Given the description of an element on the screen output the (x, y) to click on. 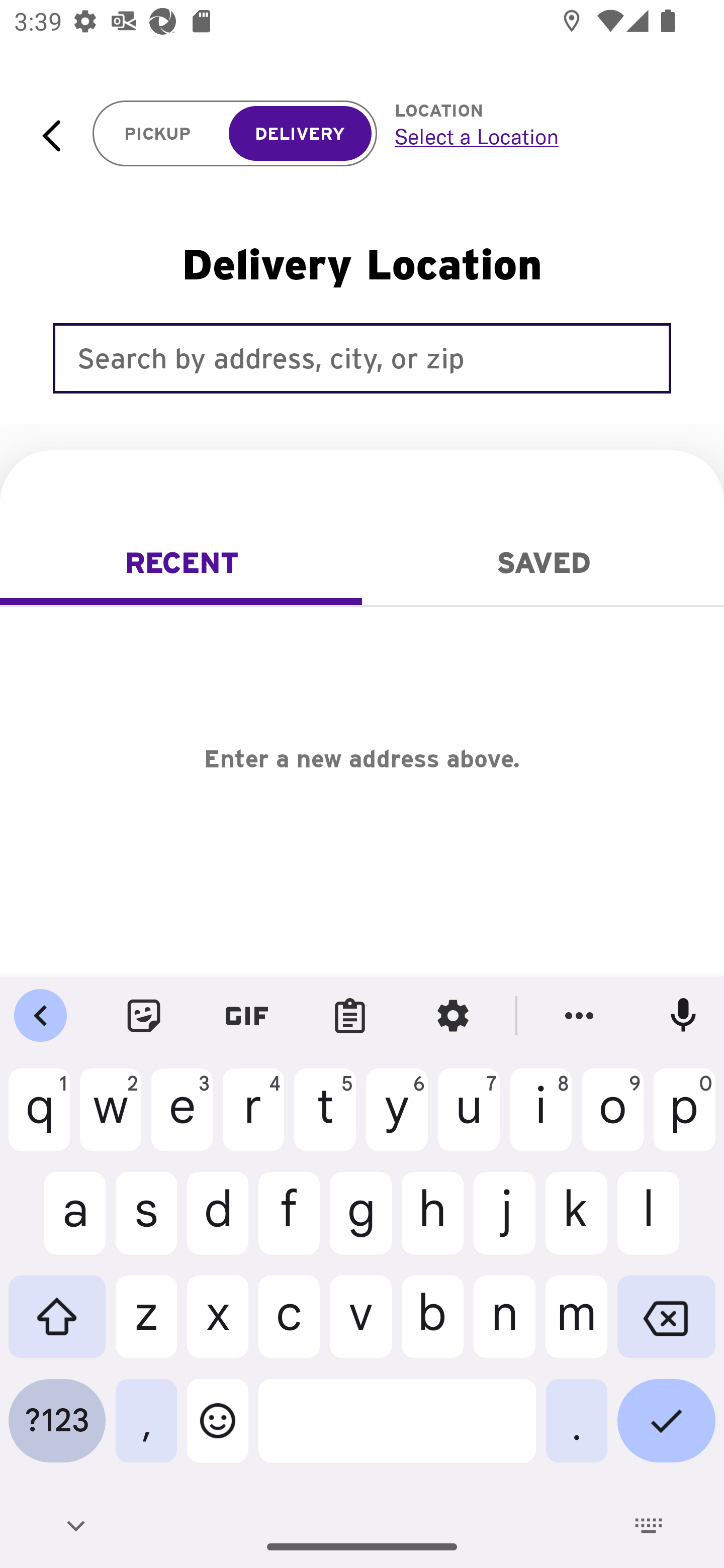
PICKUP (157, 133)
DELIVERY (299, 133)
Select a Location (536, 136)
Search by address, city, or zip (361, 358)
Saved SAVED (543, 562)
